Given the description of an element on the screen output the (x, y) to click on. 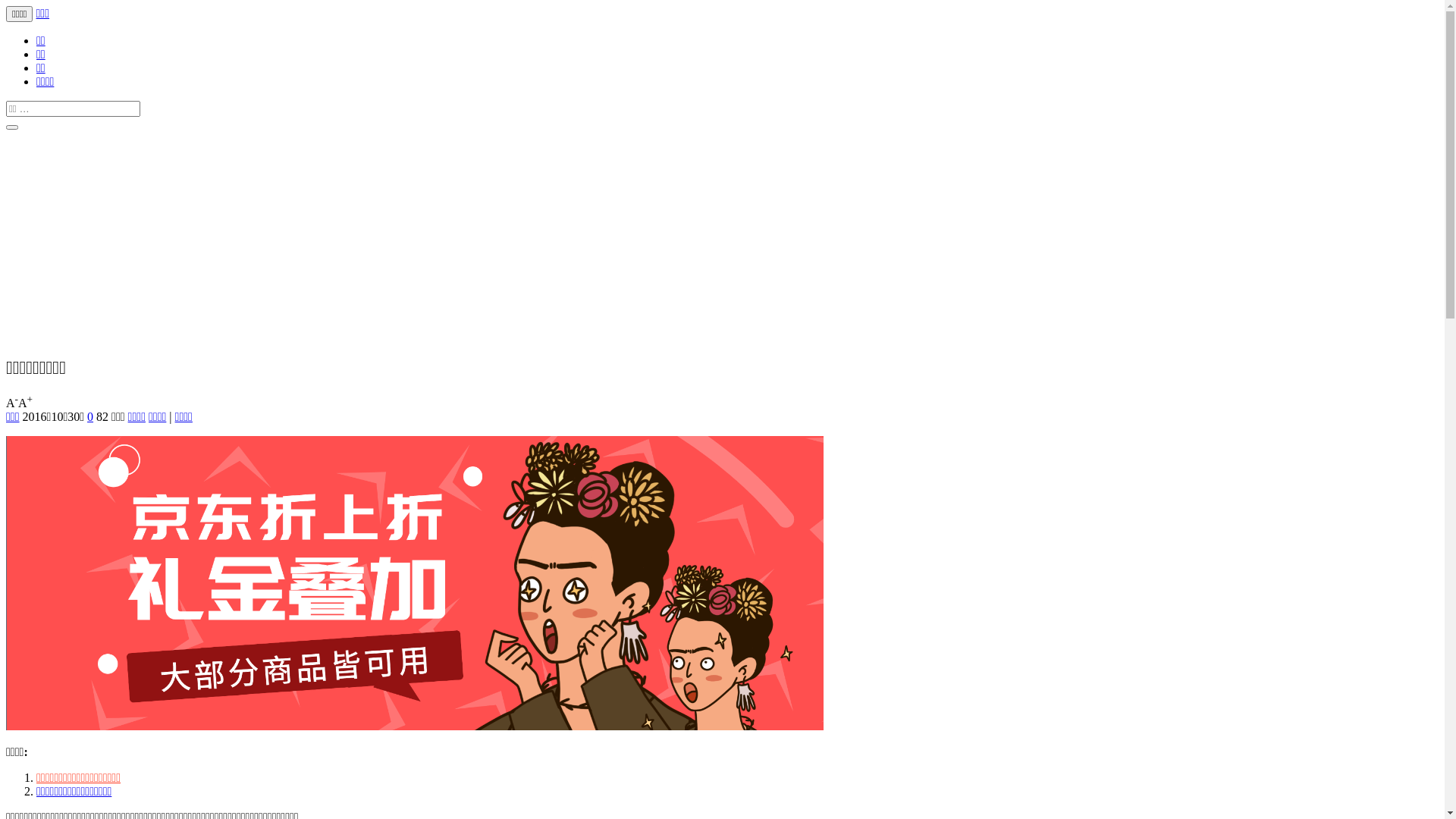
Advertisement Element type: hover (461, 236)
0 Element type: text (90, 416)
